Given the description of an element on the screen output the (x, y) to click on. 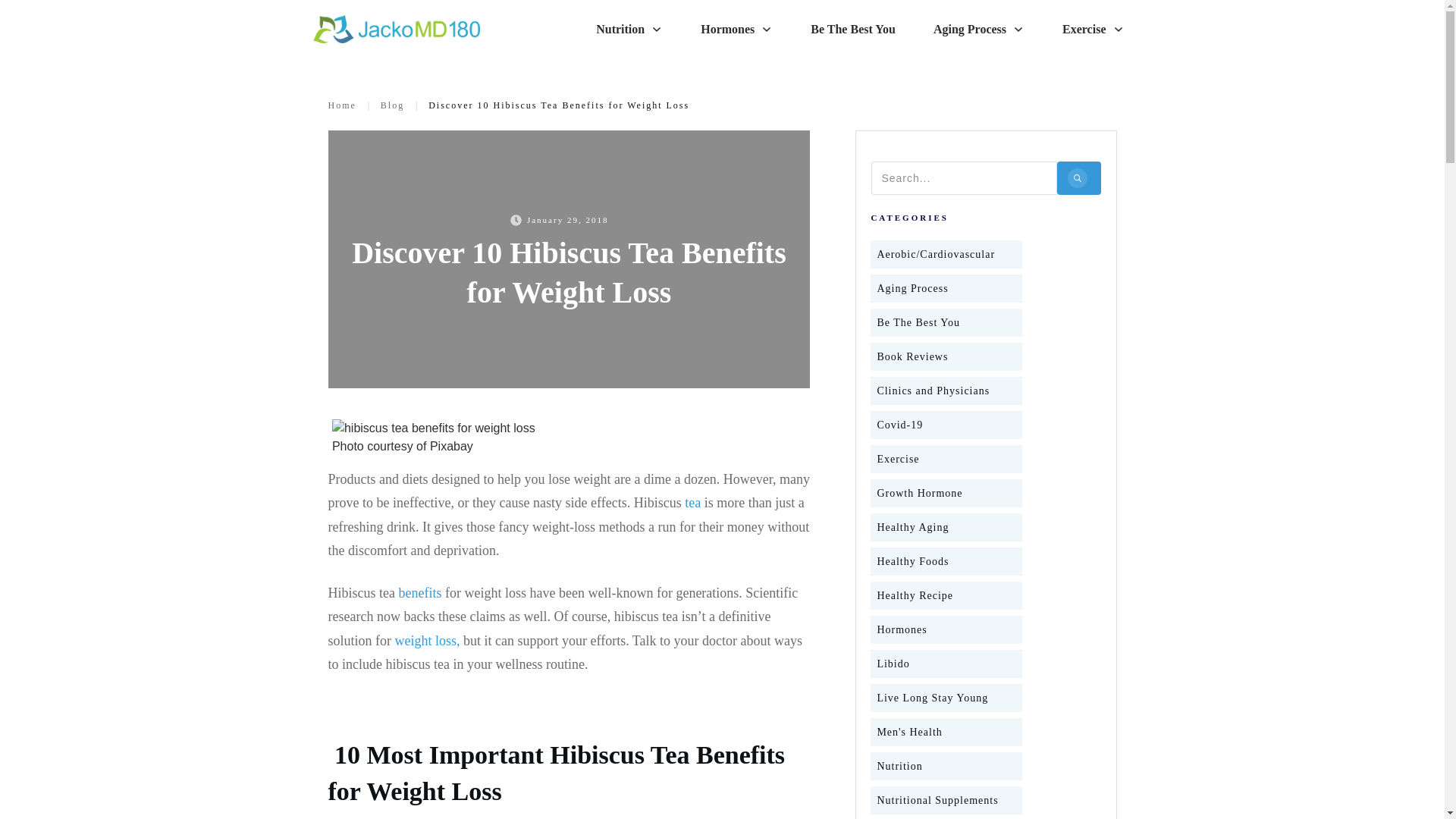
Blog (392, 105)
Aging Process (979, 29)
Be The Best You (852, 29)
weight loss, (427, 640)
Hormones (736, 29)
Exercise (1093, 29)
tea (692, 502)
Home (341, 105)
benefits (419, 592)
Nutrition (628, 29)
